Given the description of an element on the screen output the (x, y) to click on. 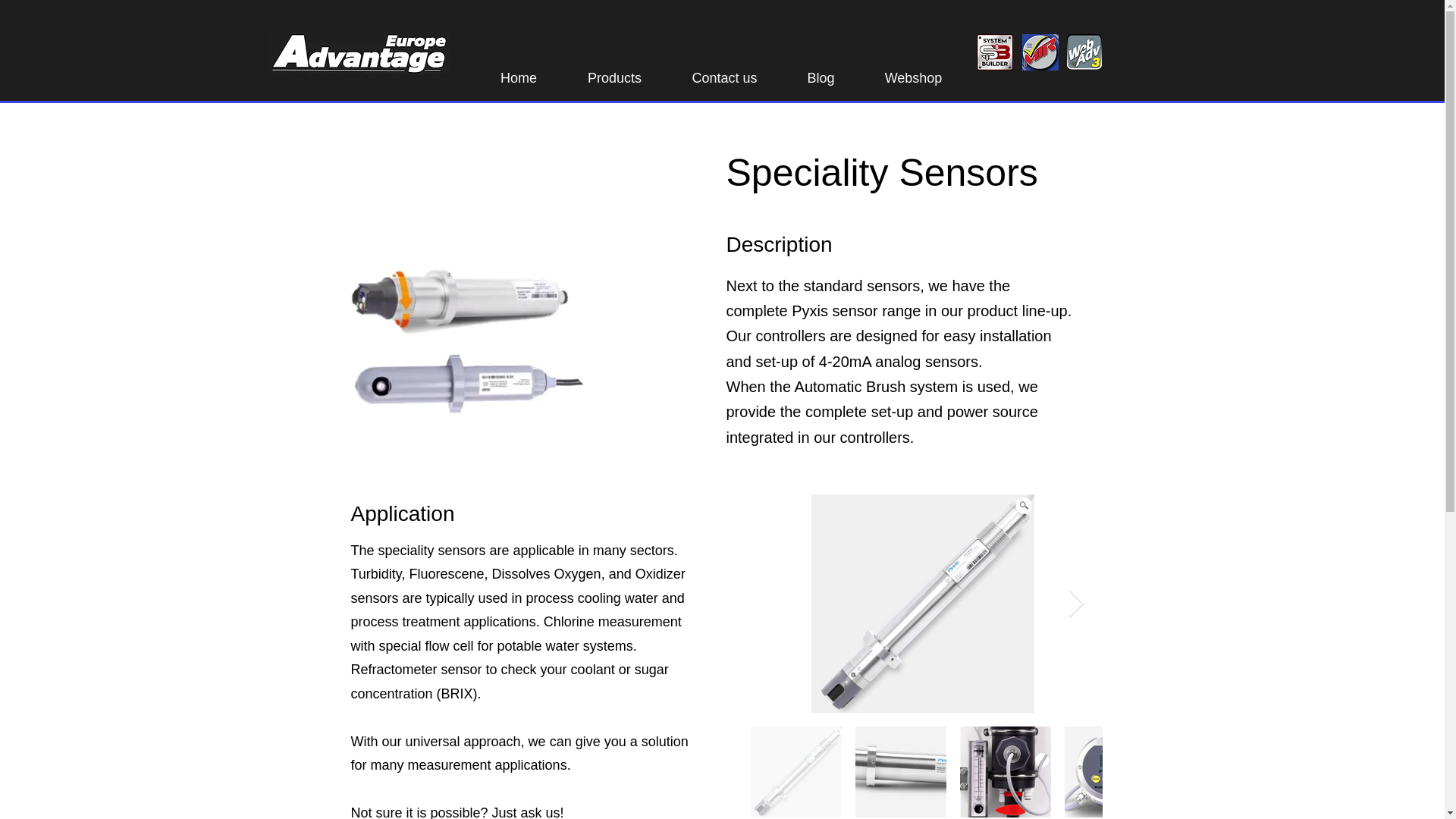
Home (518, 71)
System builder.jpg (994, 52)
Blog (821, 71)
Products (614, 71)
Webshop (914, 71)
Contact us (724, 71)
